Given the description of an element on the screen output the (x, y) to click on. 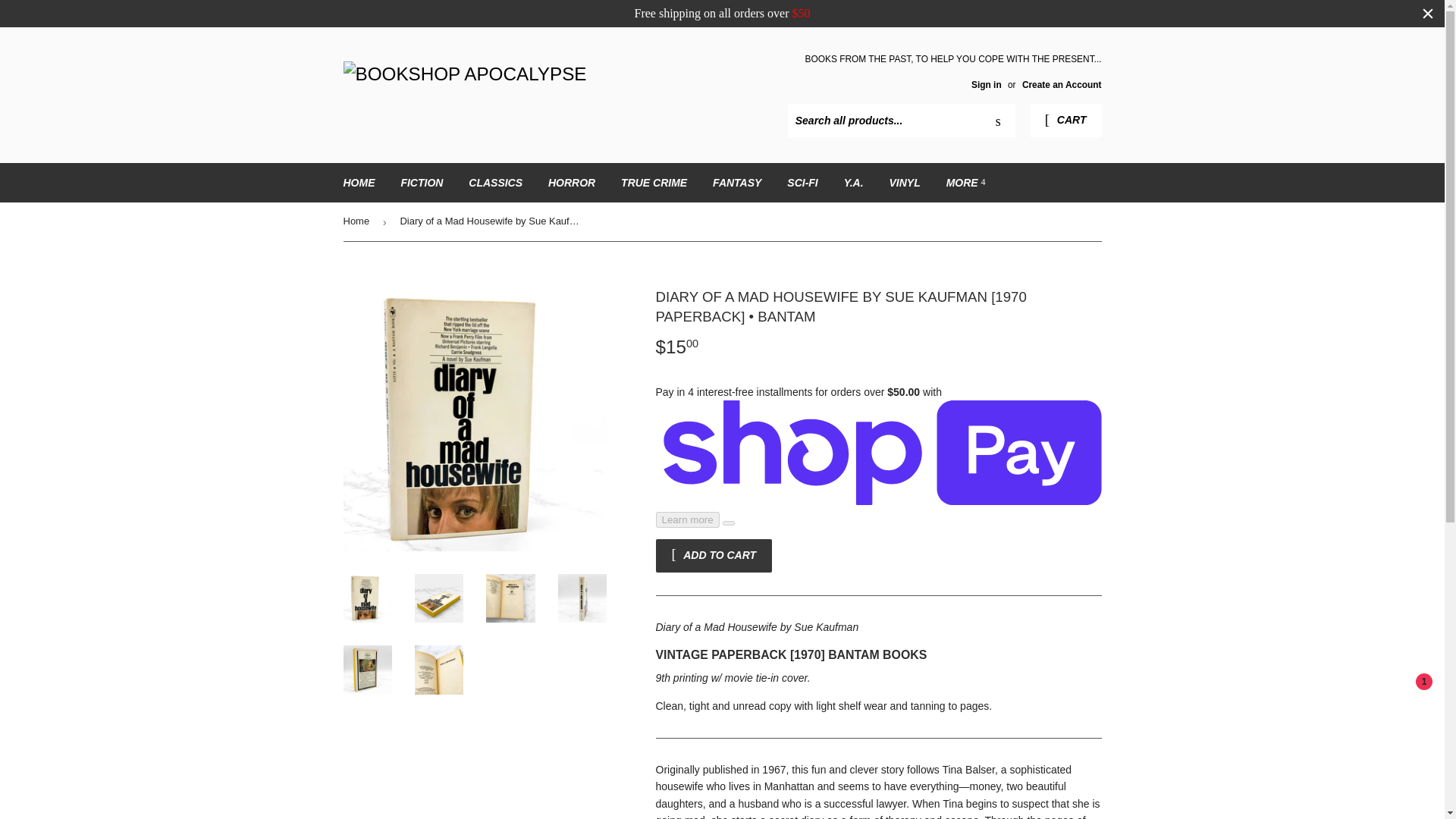
Create an Account (1062, 84)
CART (1065, 120)
FICTION (421, 182)
Search (997, 121)
HOME (359, 182)
Sign in (986, 84)
Shopify online store chat (1404, 703)
CLASSICS (495, 182)
